Given the description of an element on the screen output the (x, y) to click on. 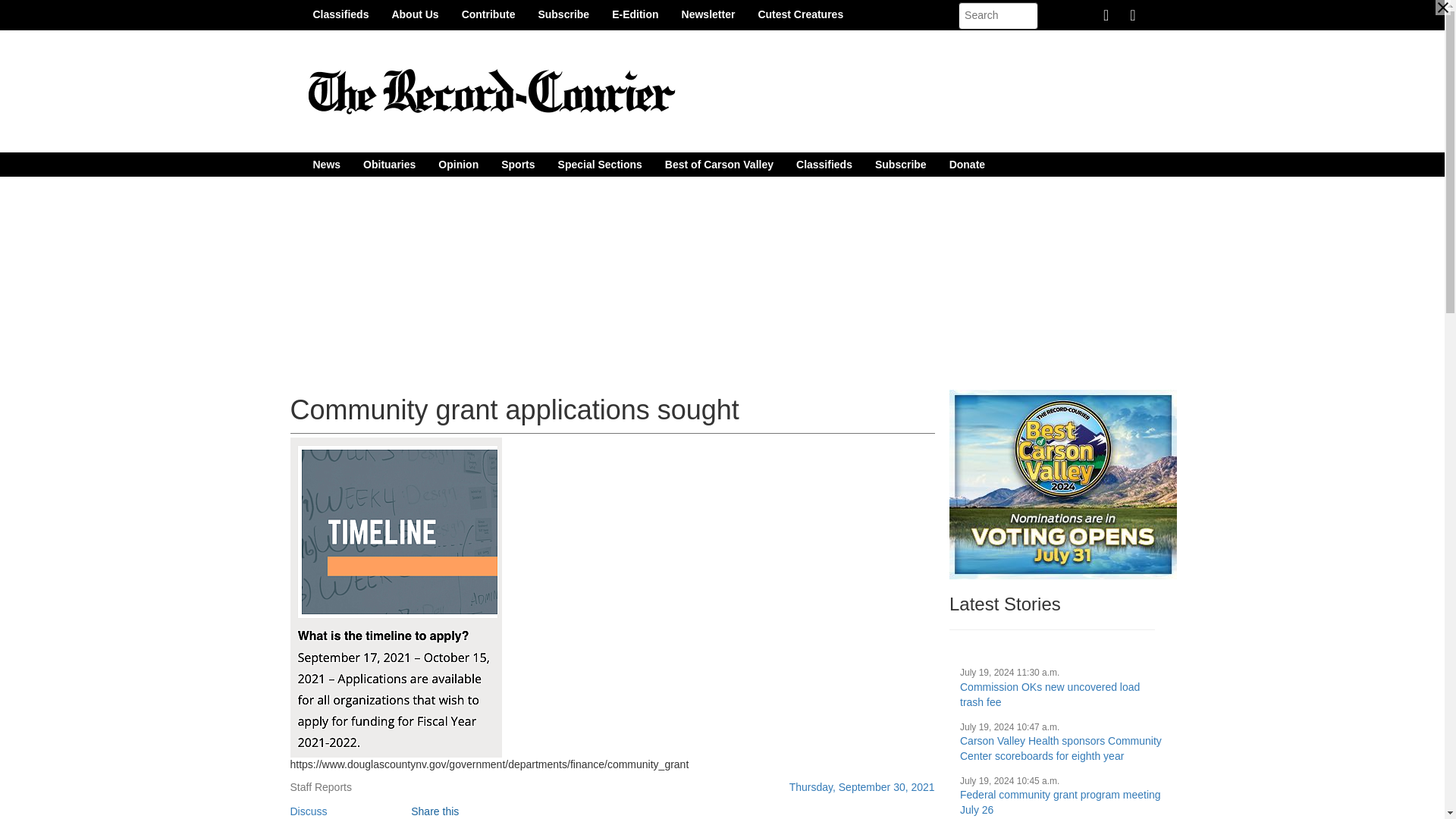
About Us (414, 14)
Sports (517, 164)
News (326, 164)
Cutest Creatures (799, 14)
Contribute (488, 14)
Best of Carson Valley (718, 164)
Obituaries (389, 164)
Subscribe (562, 14)
Newsletter (707, 14)
Classifieds (823, 164)
Subscribe (900, 164)
E-Edition (634, 14)
Opinion (457, 164)
Classifieds (340, 14)
Special Sections (600, 164)
